Given the description of an element on the screen output the (x, y) to click on. 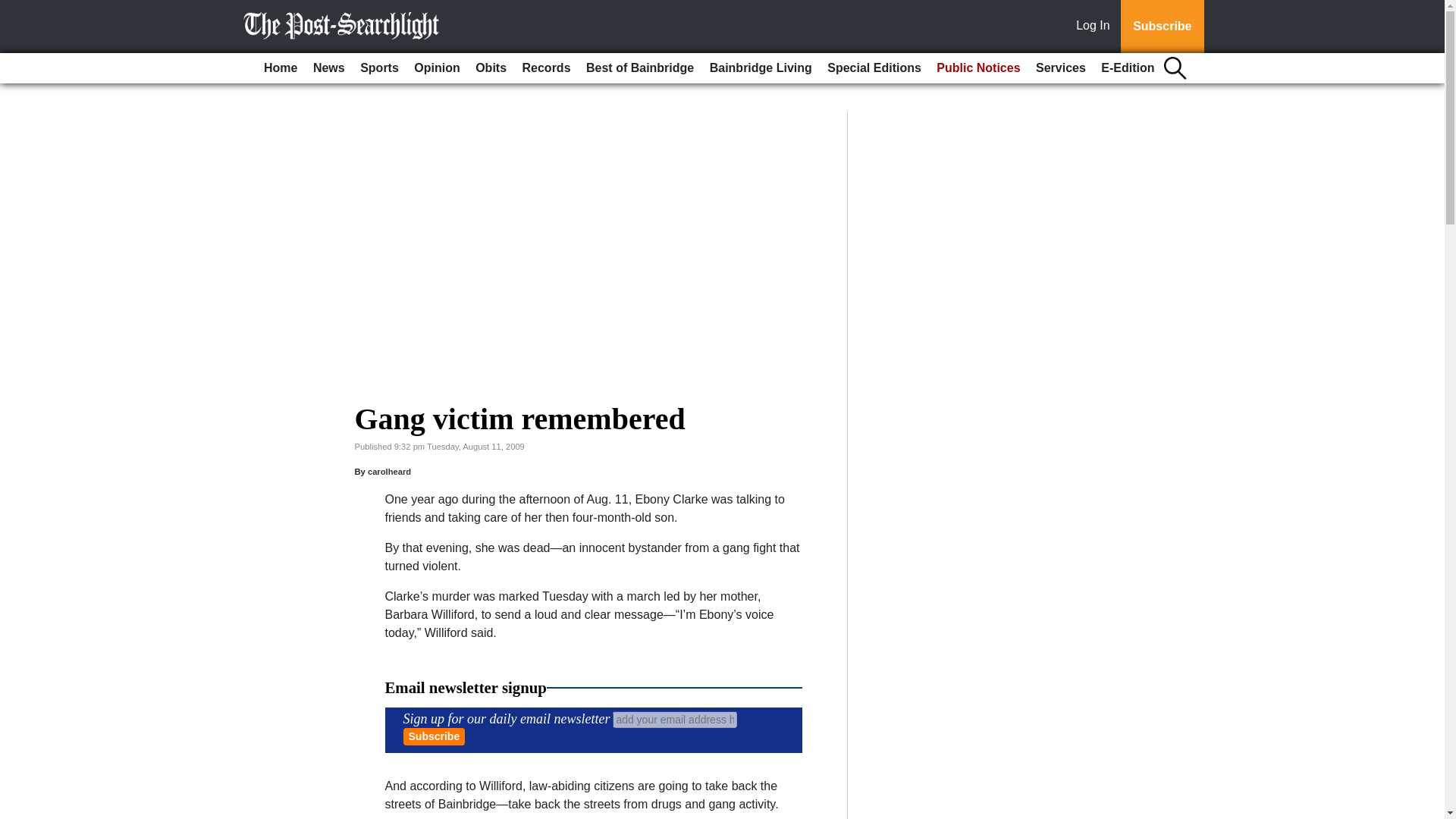
Records (546, 68)
Log In (1095, 26)
Special Editions (874, 68)
Subscribe (434, 736)
Services (1060, 68)
News (328, 68)
Best of Bainbridge (639, 68)
carolheard (389, 470)
Opinion (436, 68)
Public Notices (978, 68)
Subscribe (434, 736)
Subscribe (1162, 26)
Sports (378, 68)
E-Edition (1127, 68)
Home (279, 68)
